Given the description of an element on the screen output the (x, y) to click on. 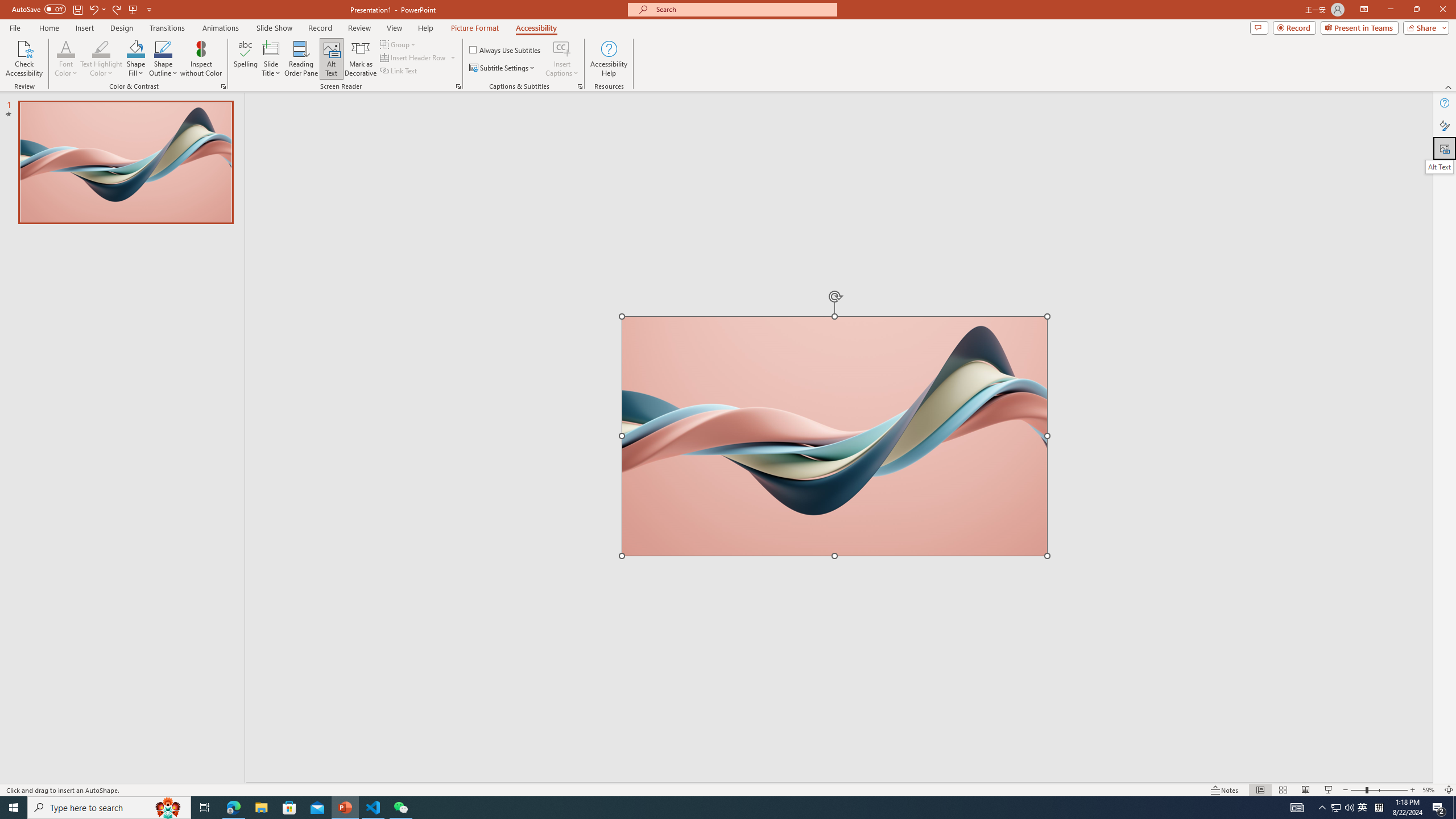
Color & Contrast (223, 85)
Reading Order Pane (301, 58)
Subtitle Settings (502, 67)
